Given the description of an element on the screen output the (x, y) to click on. 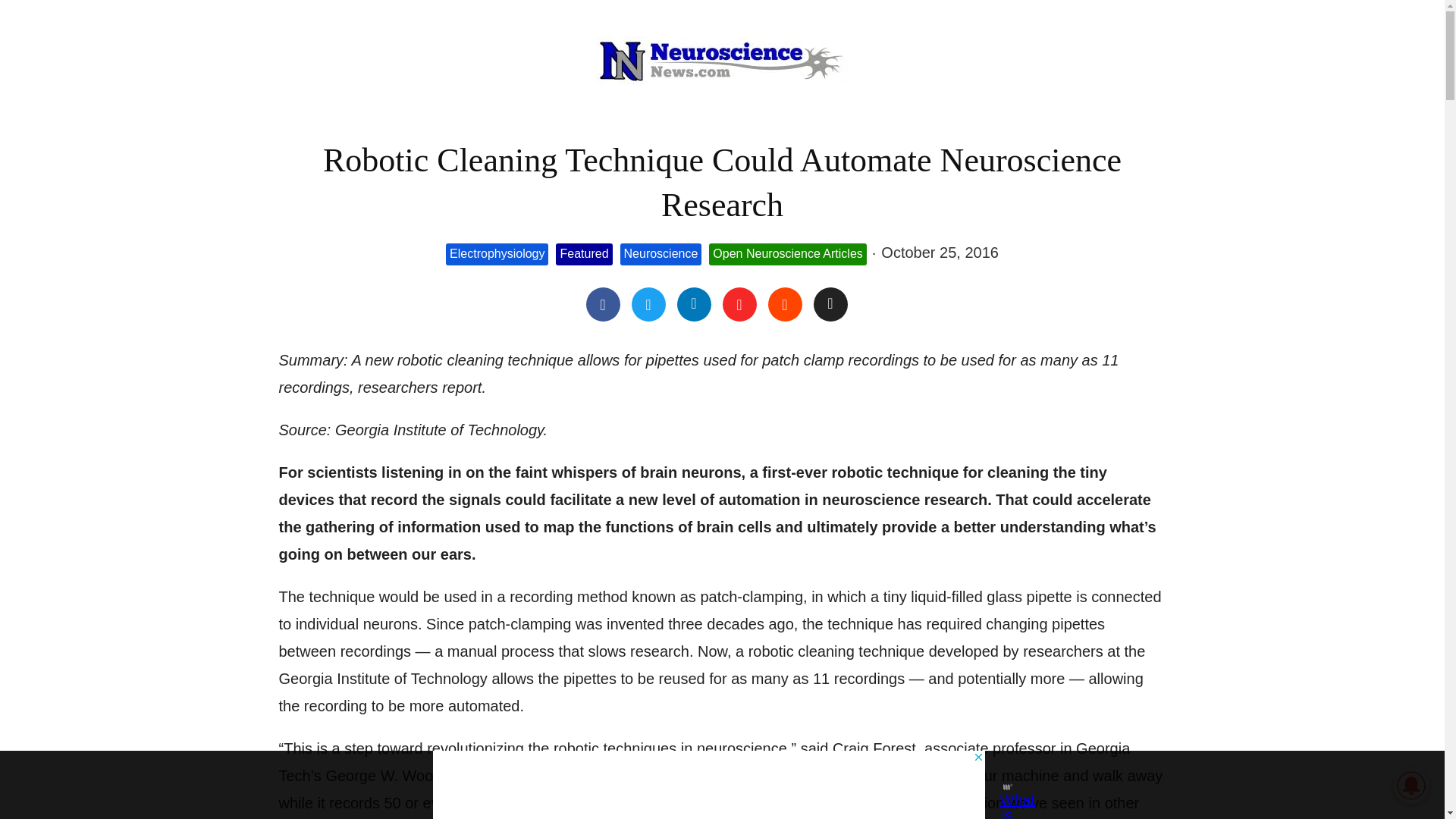
Open Neuroscience Articles (787, 254)
Neuroscience (660, 254)
Electrophysiology (496, 254)
Featured (583, 254)
